Given the description of an element on the screen output the (x, y) to click on. 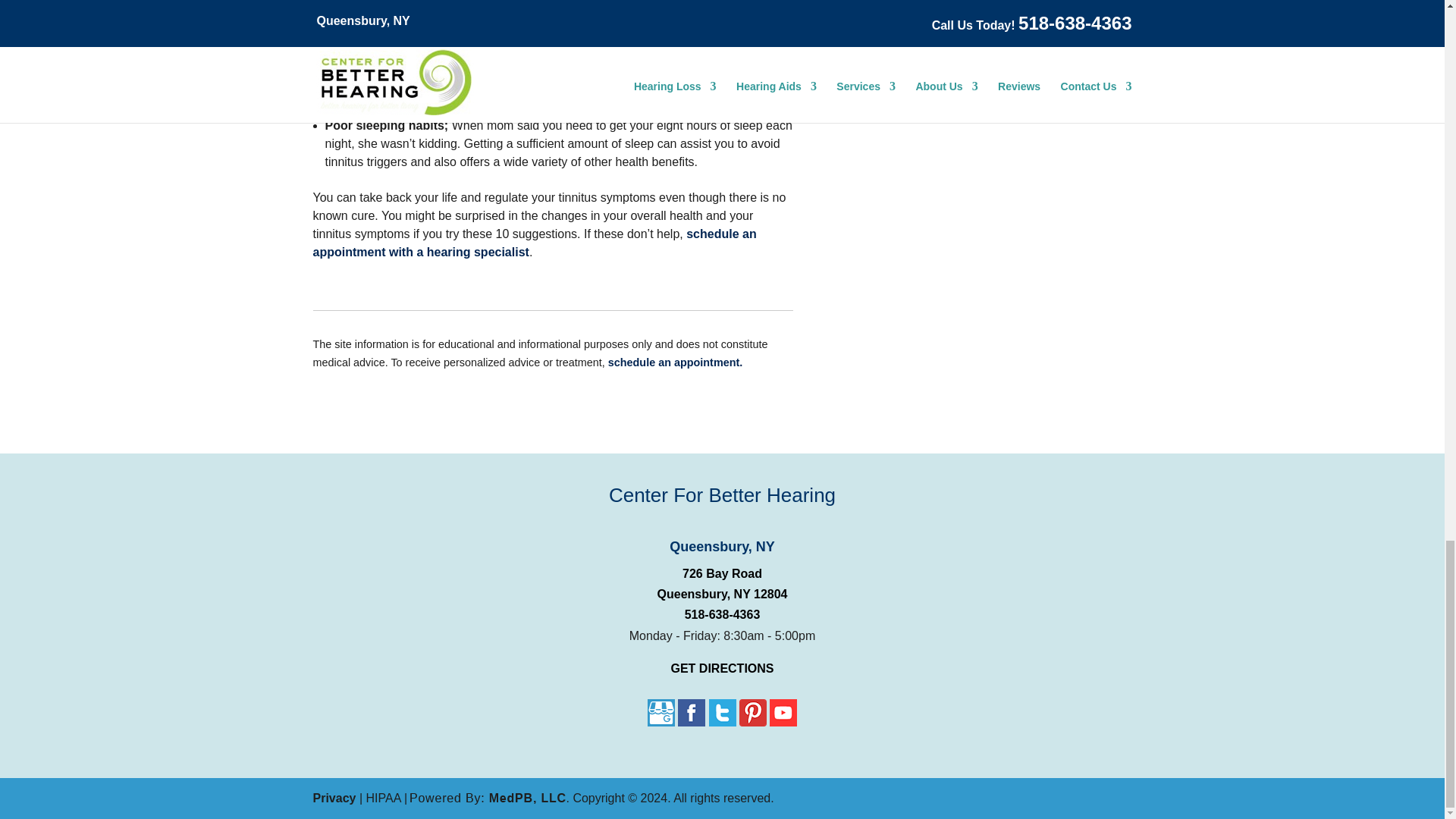
Center For Better Hearing (722, 499)
MedPB: Medical Practice Building, Marketing, Websites (488, 797)
